Given the description of an element on the screen output the (x, y) to click on. 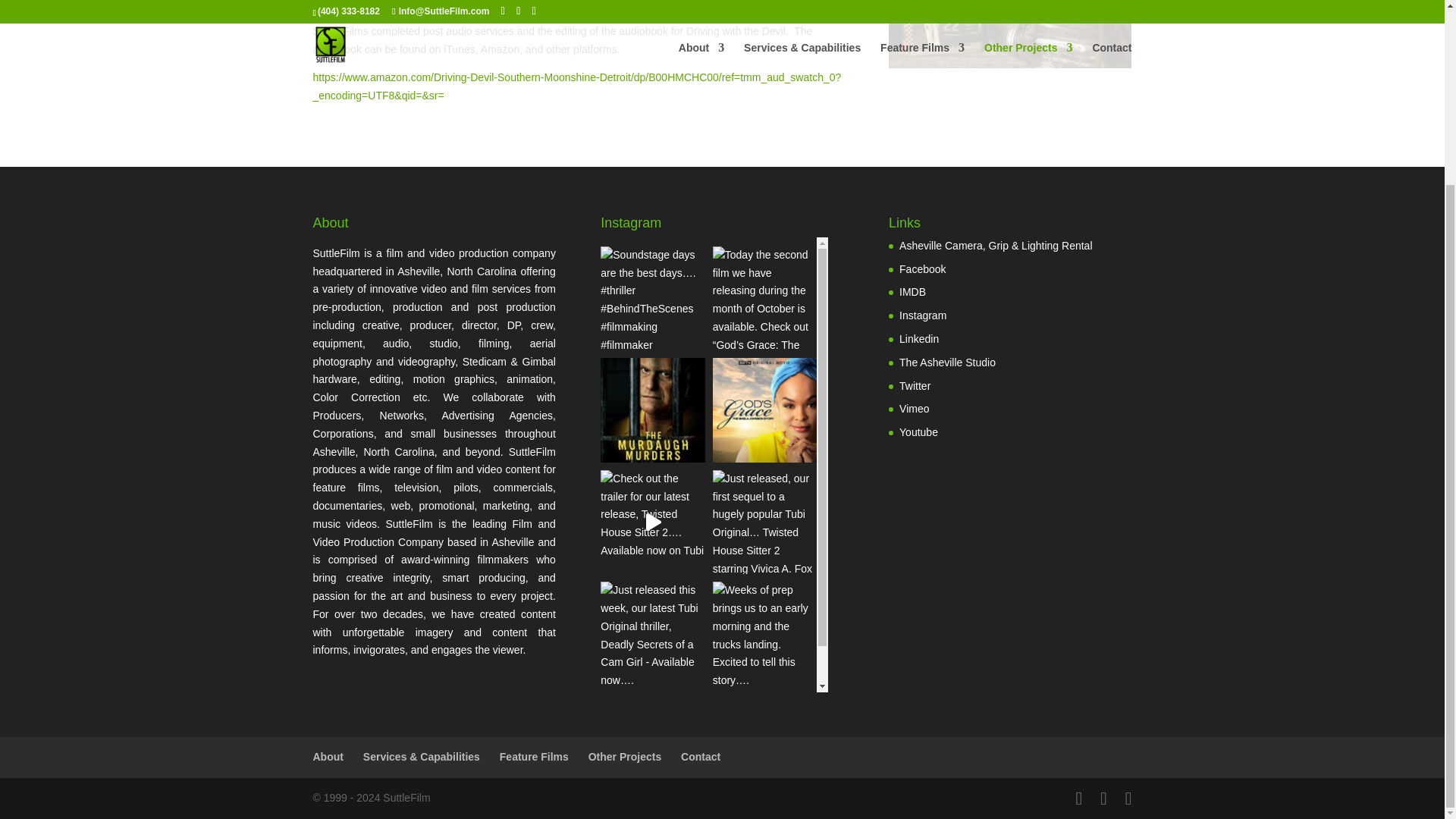
Suttlefilm on Vimeo (913, 408)
James Suttles on IMDB (912, 291)
James Suttles Twitter Feed (914, 386)
suttlefilm on Instagram (922, 315)
Suttlefilm on Linkedin (919, 338)
Suttlefilm on Youtube (918, 431)
Suttlefilm on Facebook (921, 268)
